Given the description of an element on the screen output the (x, y) to click on. 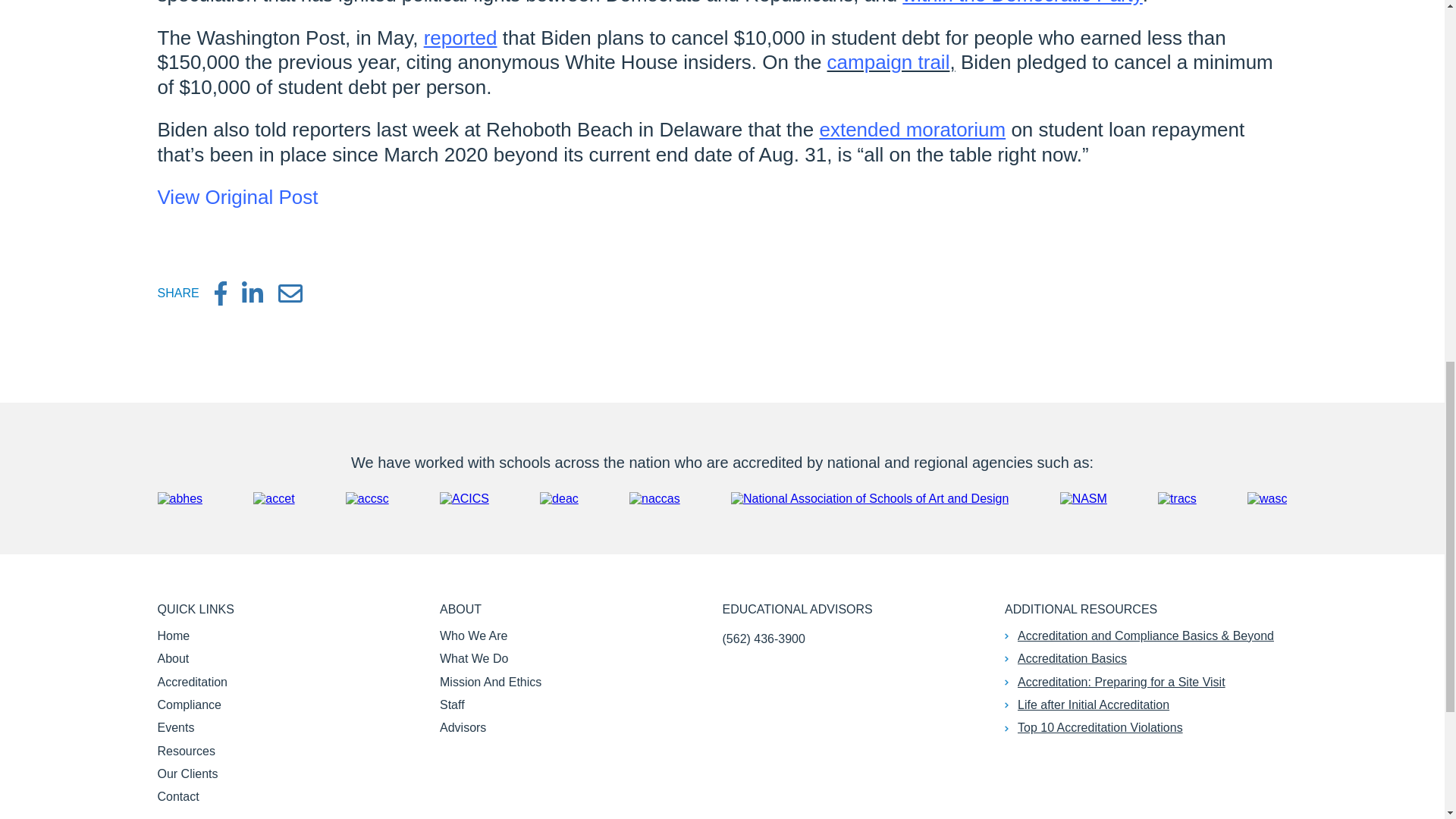
accet (273, 499)
extended moratorium (912, 128)
within the Democratic Party (1021, 2)
View Original Post (237, 196)
reported (460, 37)
wasc (1267, 499)
ACICS (464, 499)
tracs (1176, 499)
abhes (180, 499)
deac (559, 499)
